Given the description of an element on the screen output the (x, y) to click on. 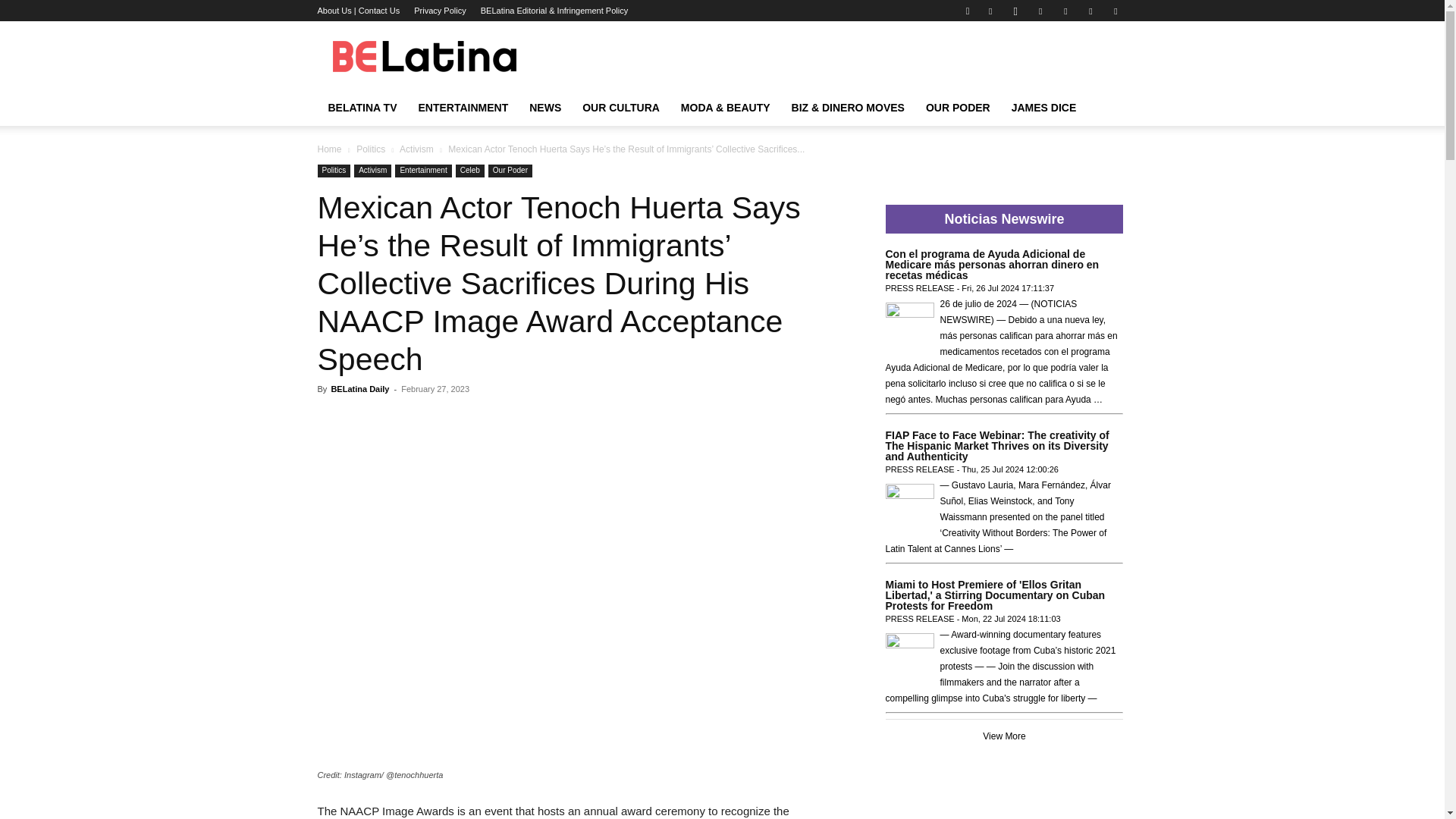
Pinterest (1065, 10)
Twitter (1114, 10)
RSS (1090, 10)
Facebook (989, 10)
Instagram (1015, 10)
Linkedin (1040, 10)
